Given the description of an element on the screen output the (x, y) to click on. 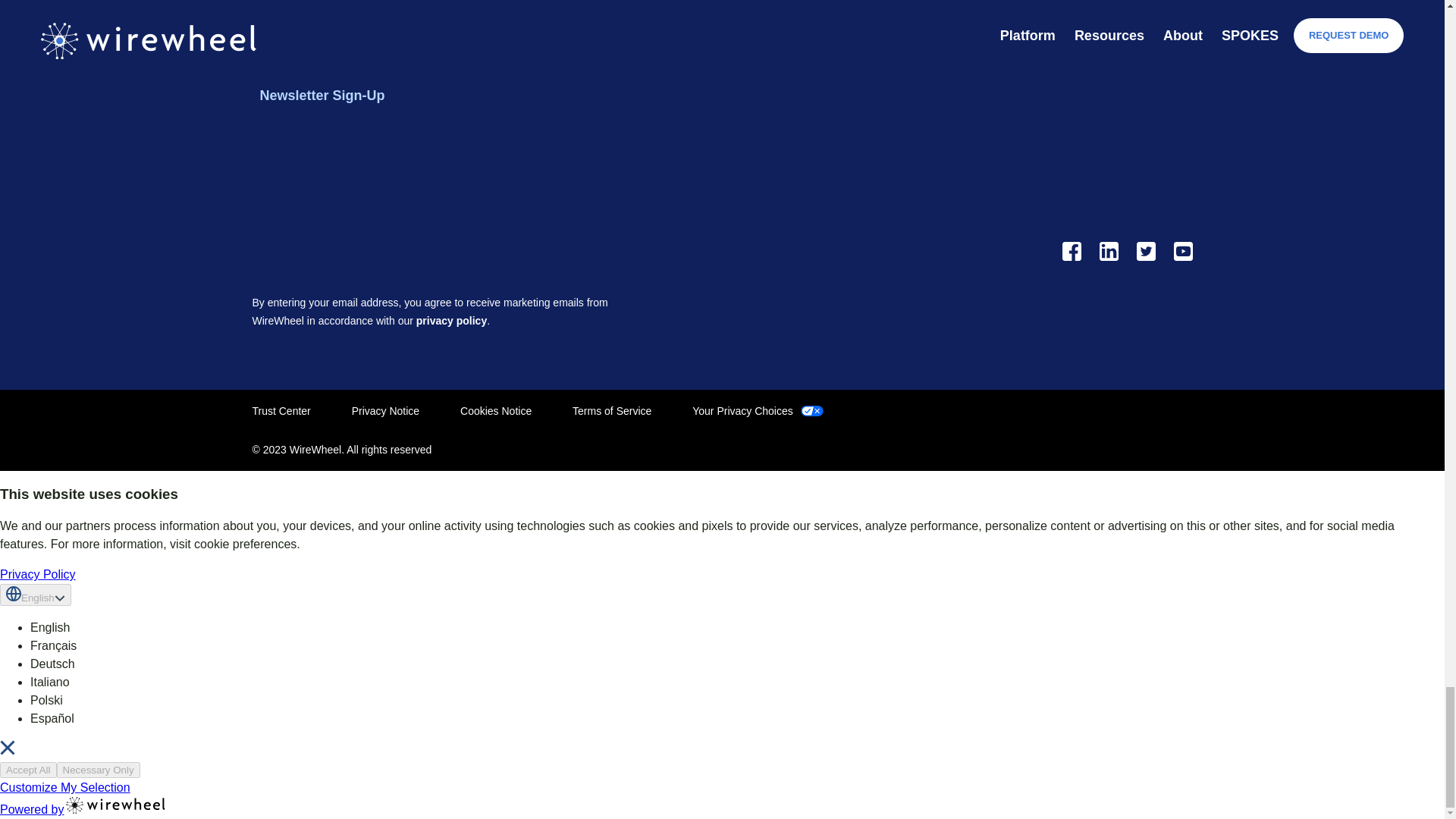
Form 0 (446, 183)
Read reviews of WireWheel on G2 (1116, 146)
